Given the description of an element on the screen output the (x, y) to click on. 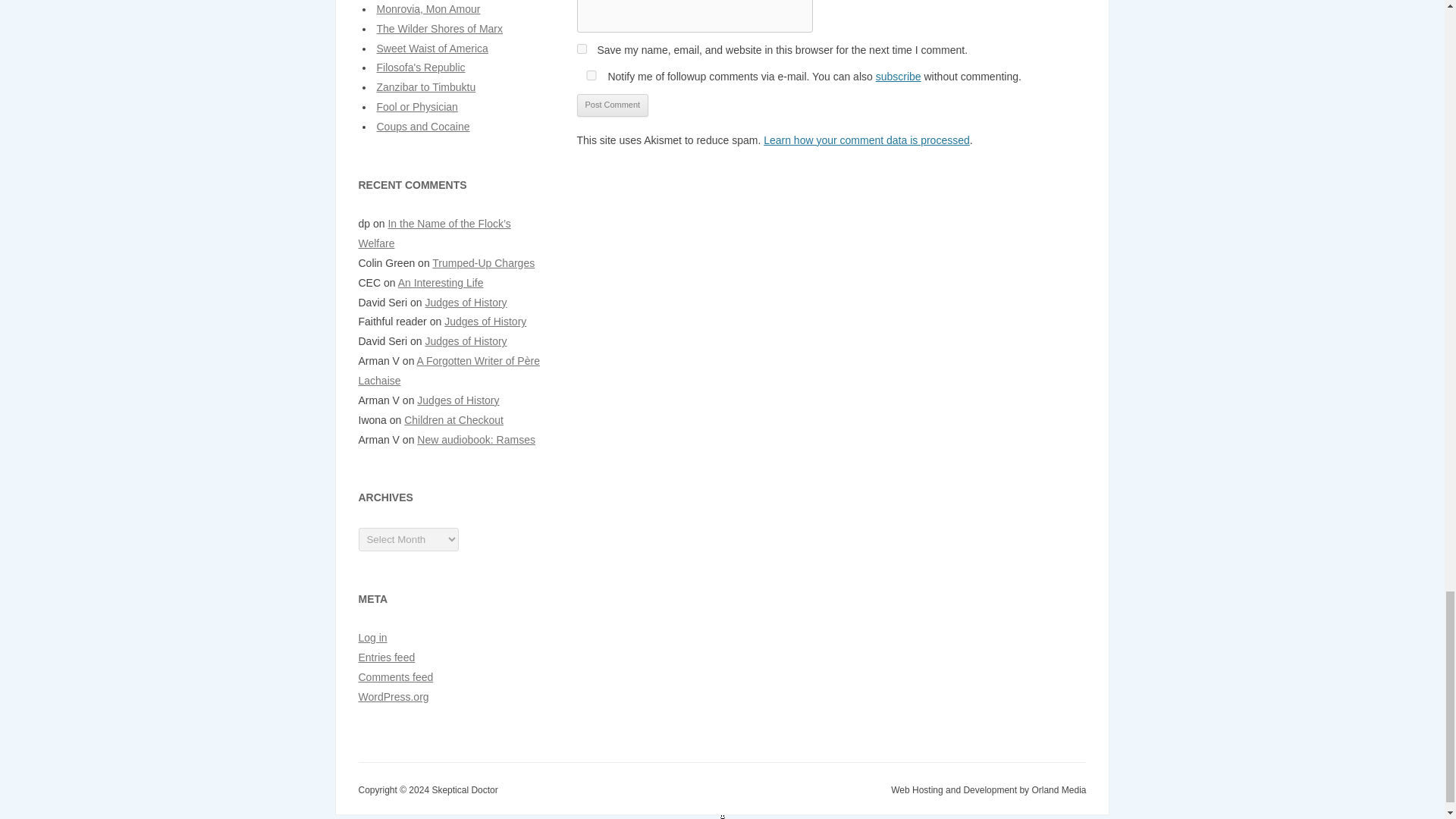
Post Comment (611, 105)
yes (590, 75)
yes (581, 49)
